Given the description of an element on the screen output the (x, y) to click on. 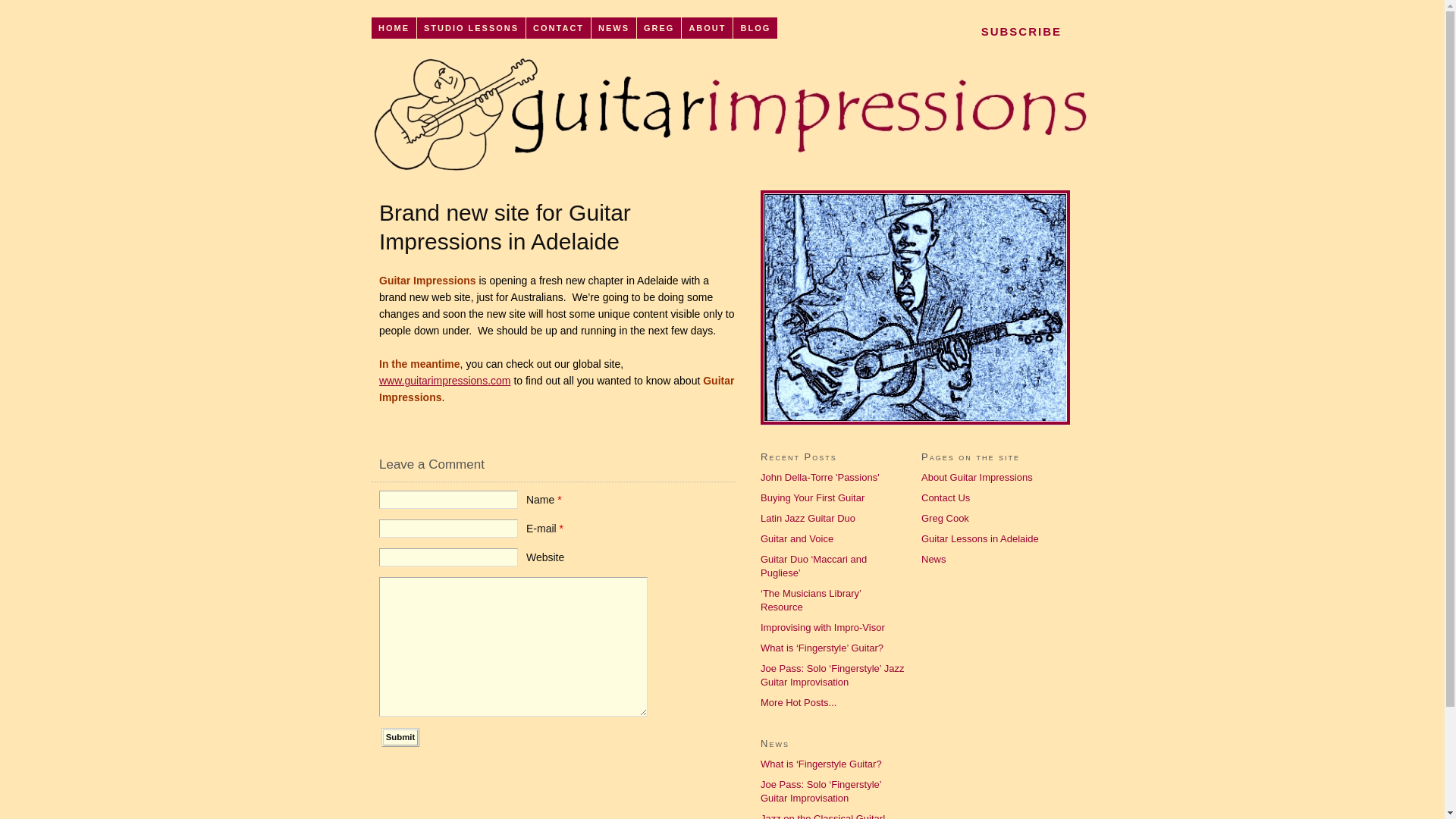
www.guitarimpressions.com Element type: text (445, 380)
Buying Your First Guitar Element type: text (812, 497)
News Element type: text (933, 558)
More Hot Posts... Element type: text (798, 702)
GREG Element type: text (659, 27)
CONTACT Element type: text (558, 27)
Guitar Lessons in Adelaide Element type: text (979, 538)
Latin Jazz Guitar Duo Element type: text (807, 518)
HOME Element type: text (394, 27)
Greg Cook Element type: text (945, 518)
STUDIO LESSONS Element type: text (471, 27)
Contact Us Element type: text (945, 497)
BLOG Element type: text (755, 27)
SUBSCRIBE Element type: text (1022, 30)
ABOUT Element type: text (707, 27)
Submit Element type: text (400, 737)
John Della-Torre 'Passions' Element type: text (819, 477)
Guitar and Voice Element type: text (796, 538)
Improvising with Impro-Visor Element type: text (822, 627)
About Guitar Impressions Element type: text (976, 477)
NEWS Element type: text (614, 27)
